Given the description of an element on the screen output the (x, y) to click on. 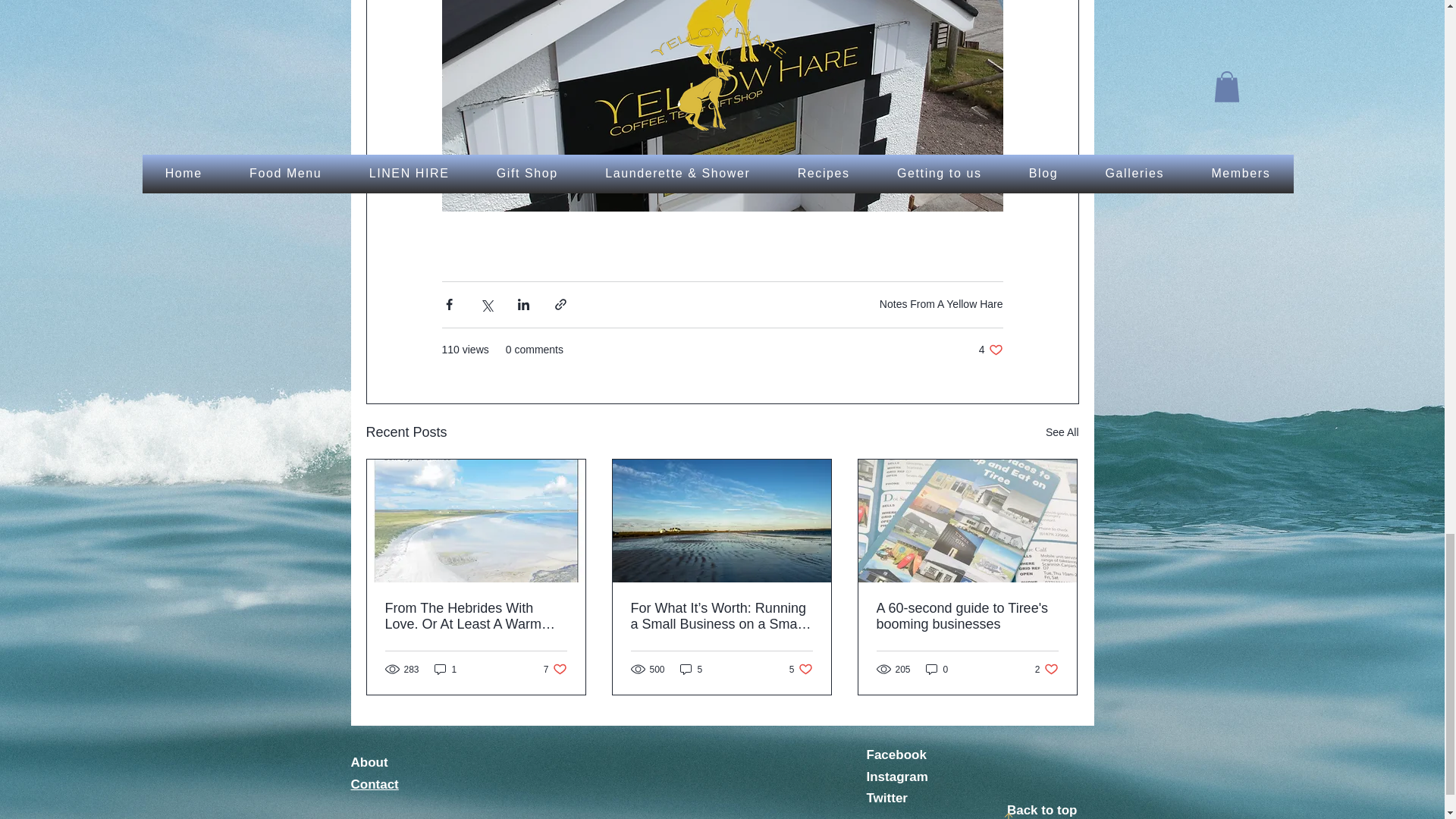
Notes From A Yellow Hare (941, 304)
0 (937, 668)
From The Hebrides With Love. Or At Least A Warm Welcome. (555, 668)
5 (800, 668)
A 60-second guide to Tiree's booming businesses (990, 350)
1 (1046, 668)
